Given the description of an element on the screen output the (x, y) to click on. 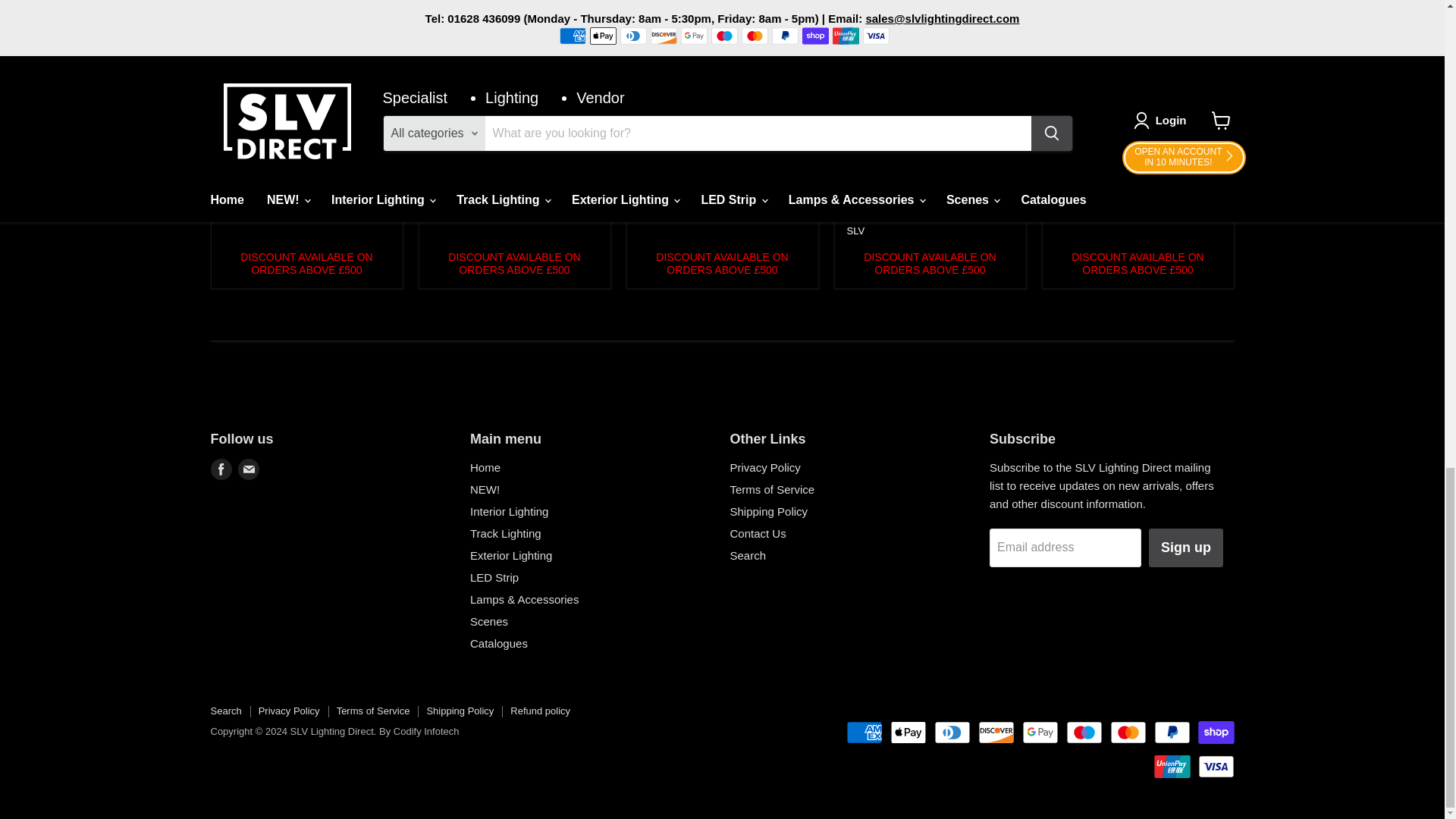
Email (248, 468)
SLV (854, 230)
SLV (439, 198)
SLV (231, 198)
SLV (647, 214)
Facebook (221, 468)
SLV (1062, 214)
